Given the description of an element on the screen output the (x, y) to click on. 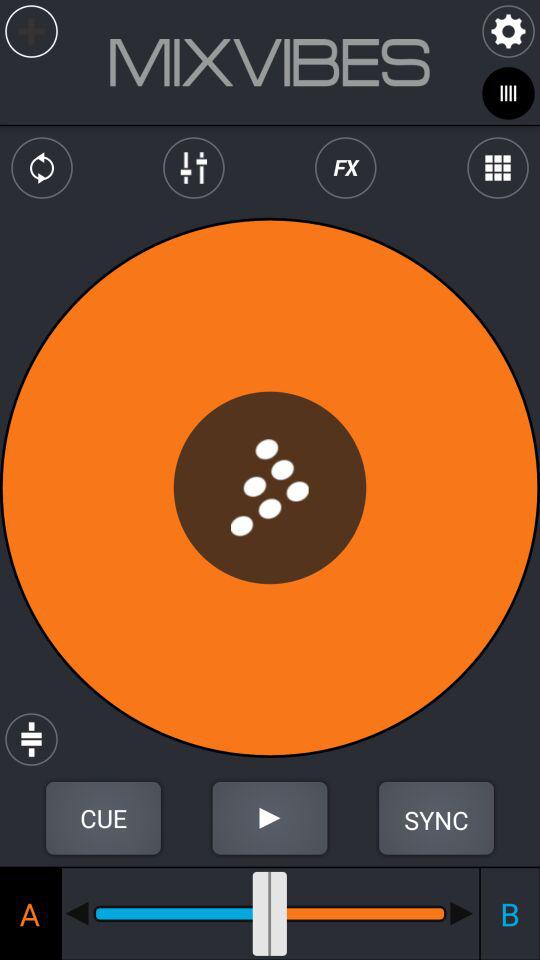
setting up (103, 818)
